Given the description of an element on the screen output the (x, y) to click on. 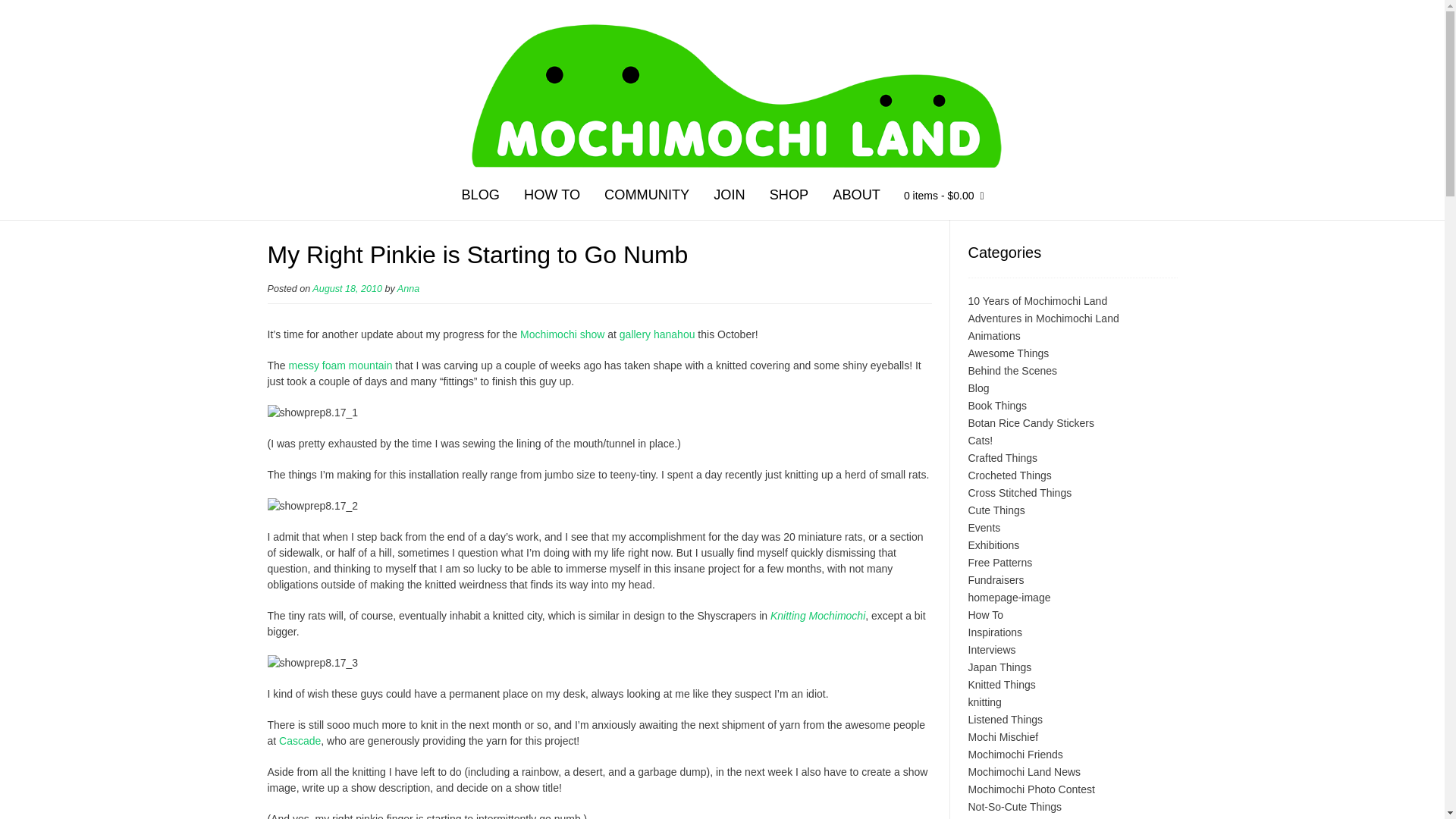
COMMUNITY (646, 197)
Mochimochi show (561, 334)
messy foam mountain (340, 365)
August 18, 2010 (347, 288)
BLOG (480, 197)
Anna (408, 288)
HOW TO (552, 197)
JOIN (729, 197)
View your shopping cart (943, 198)
Cascade (299, 740)
